Given the description of an element on the screen output the (x, y) to click on. 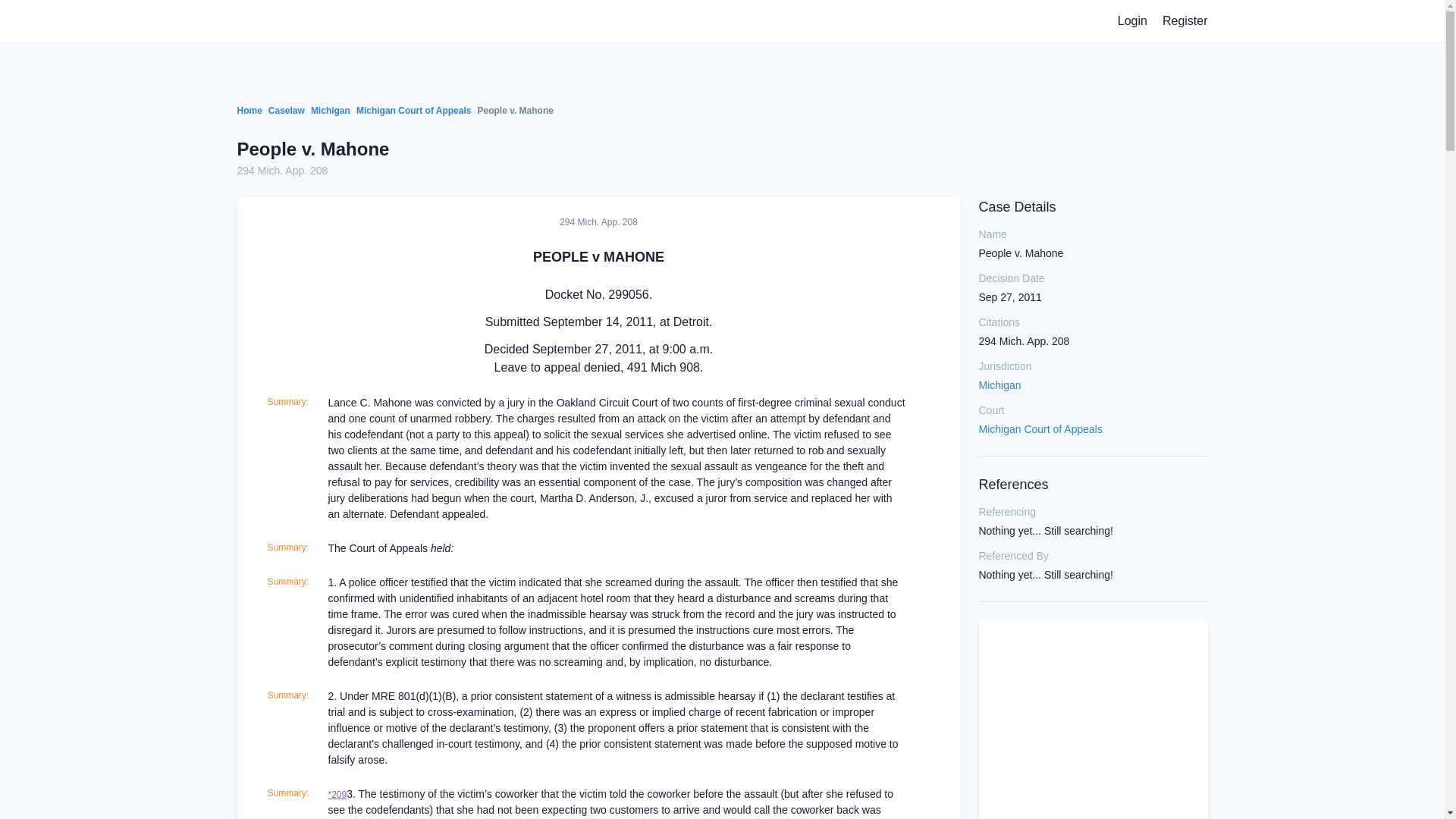
Login (1132, 21)
294 Mich. App. 208 (281, 170)
Caselaw (285, 110)
Register (1184, 21)
Michigan (999, 385)
Home (248, 110)
Michigan (330, 110)
Michigan Court of Appeals (413, 110)
People v. Mahone (311, 148)
Michigan Court of Appeals (1040, 428)
